Given the description of an element on the screen output the (x, y) to click on. 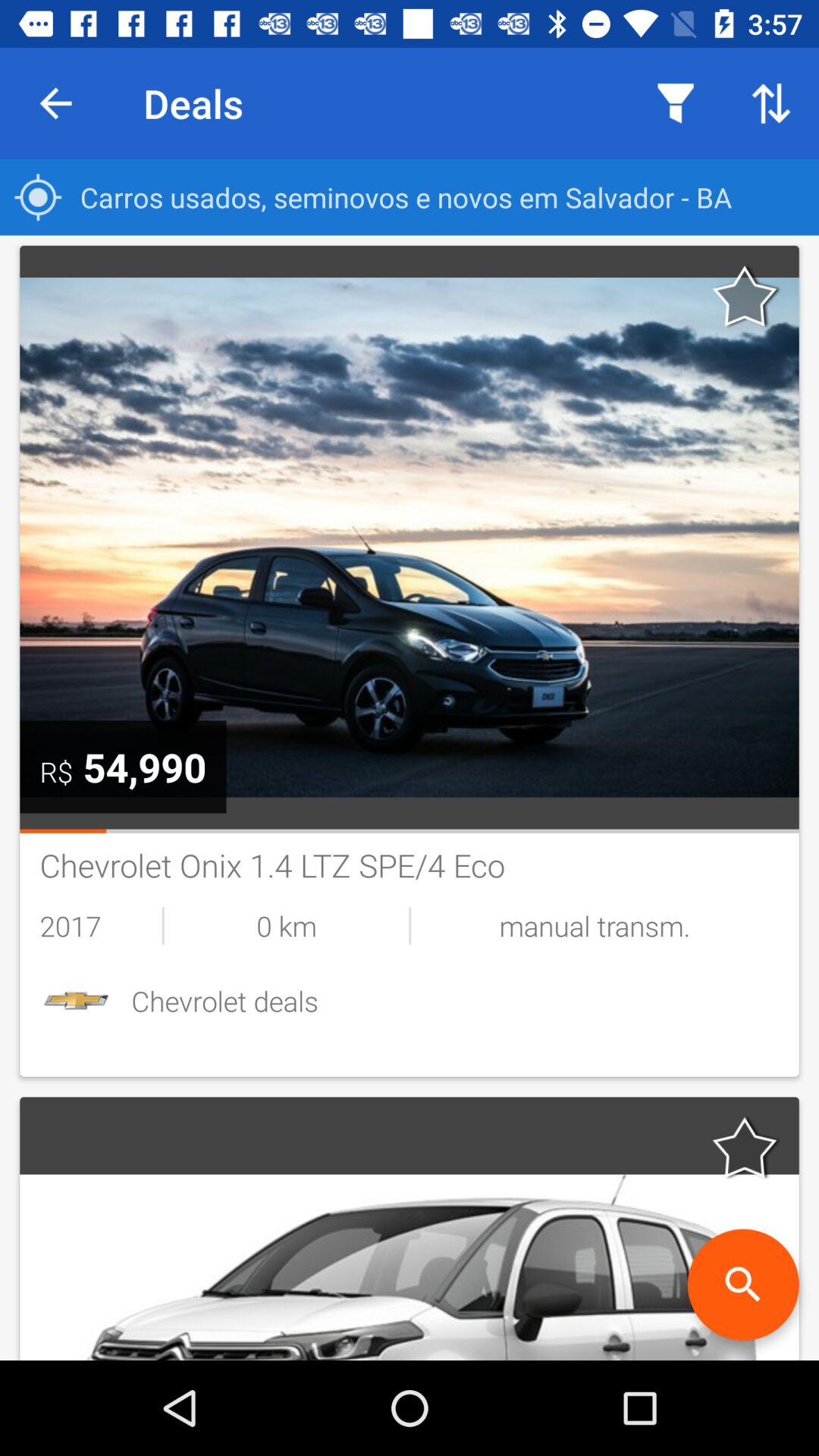
mark as favorite (745, 295)
